Given the description of an element on the screen output the (x, y) to click on. 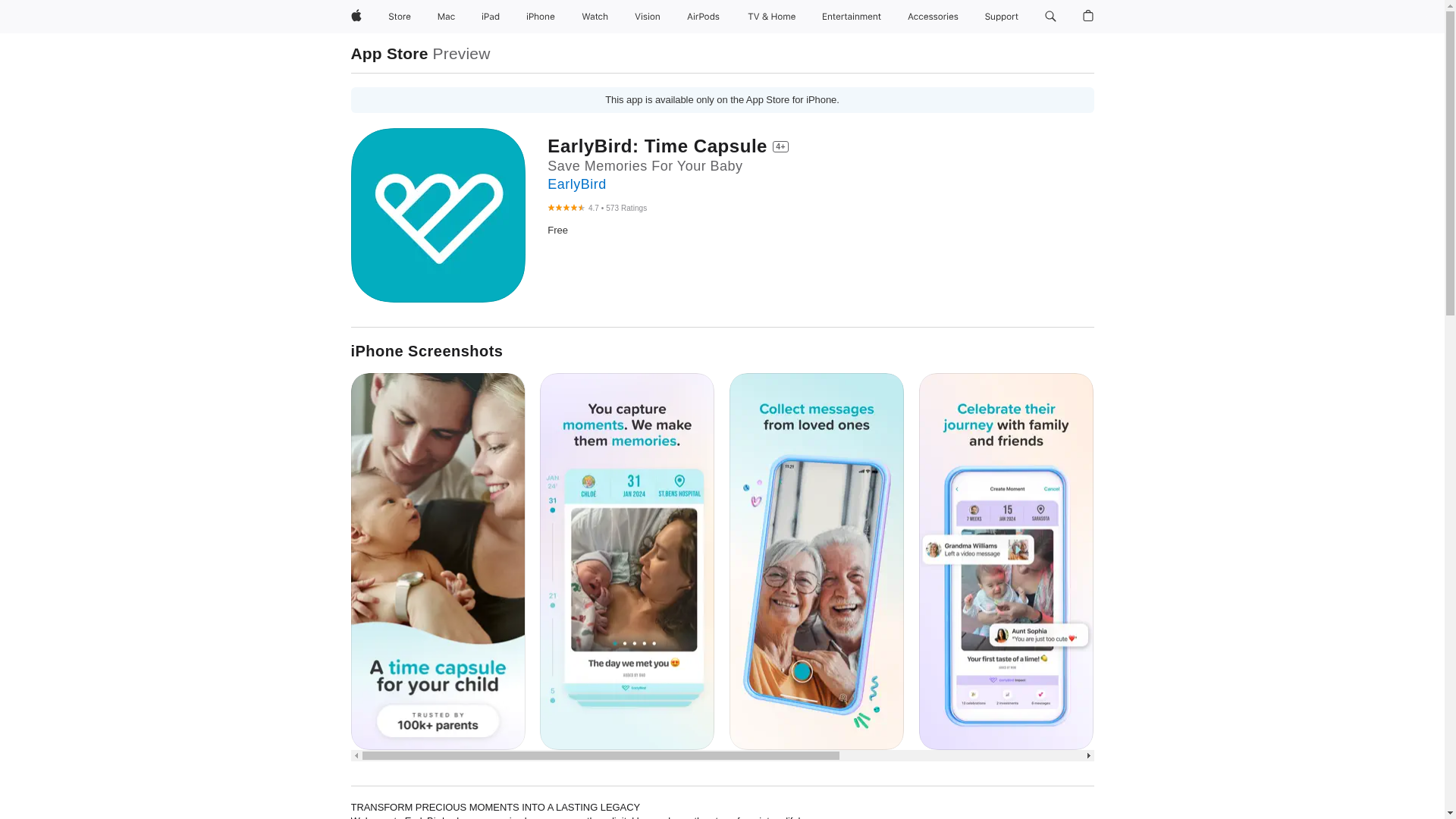
AirPods (703, 16)
EarlyBird (576, 183)
Watch (594, 16)
App Store (389, 53)
Accessories (932, 16)
Entertainment (851, 16)
iPhone (539, 16)
Store (398, 16)
Support (1001, 16)
iPad (490, 16)
Vision (647, 16)
